Given the description of an element on the screen output the (x, y) to click on. 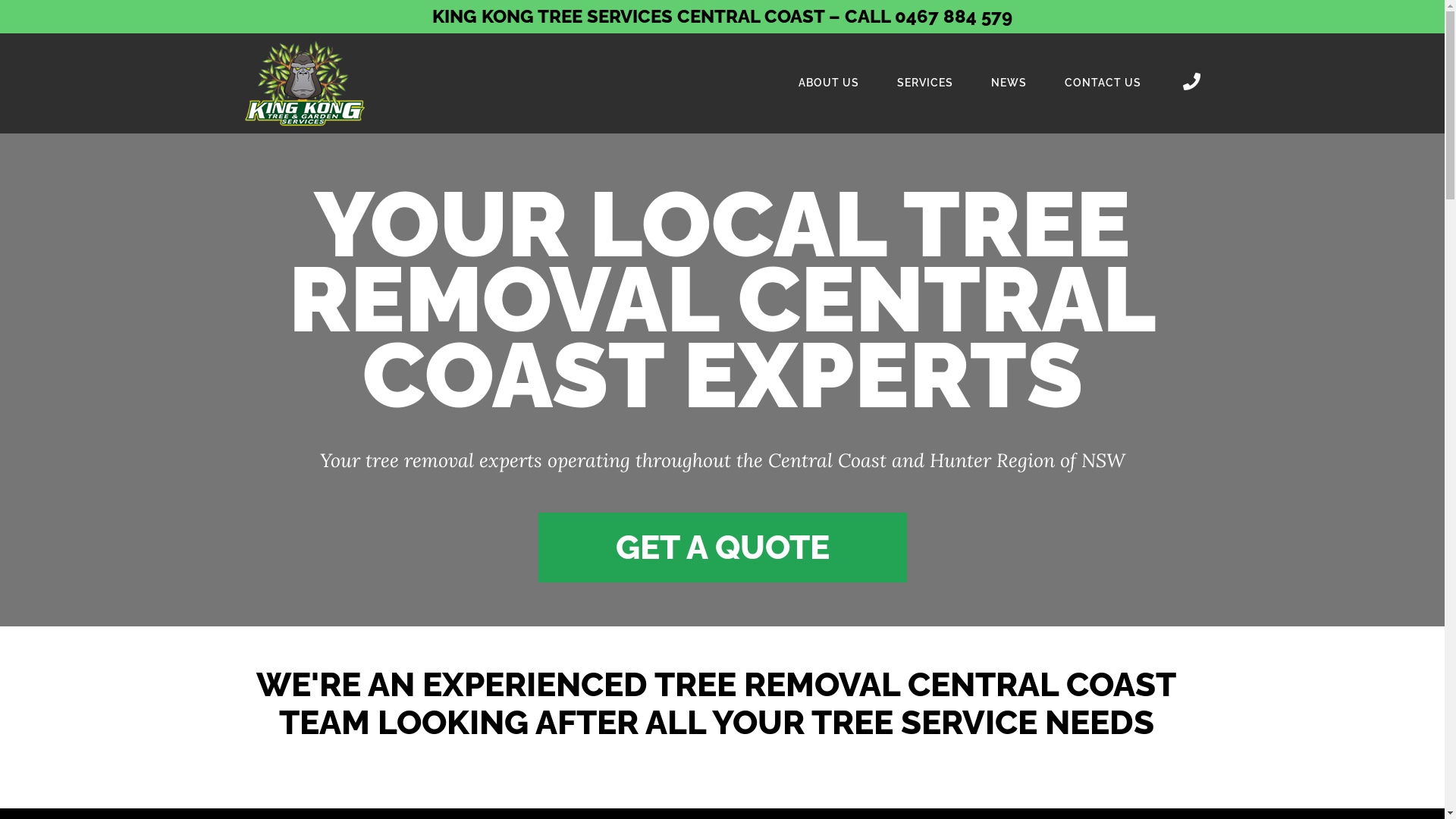
SERVICES Element type: text (925, 83)
NEWS Element type: text (1008, 83)
GET A QUOTE Element type: text (722, 547)
ABOUT US Element type: text (828, 83)
CONTACT US Element type: text (1102, 83)
